Given the description of an element on the screen output the (x, y) to click on. 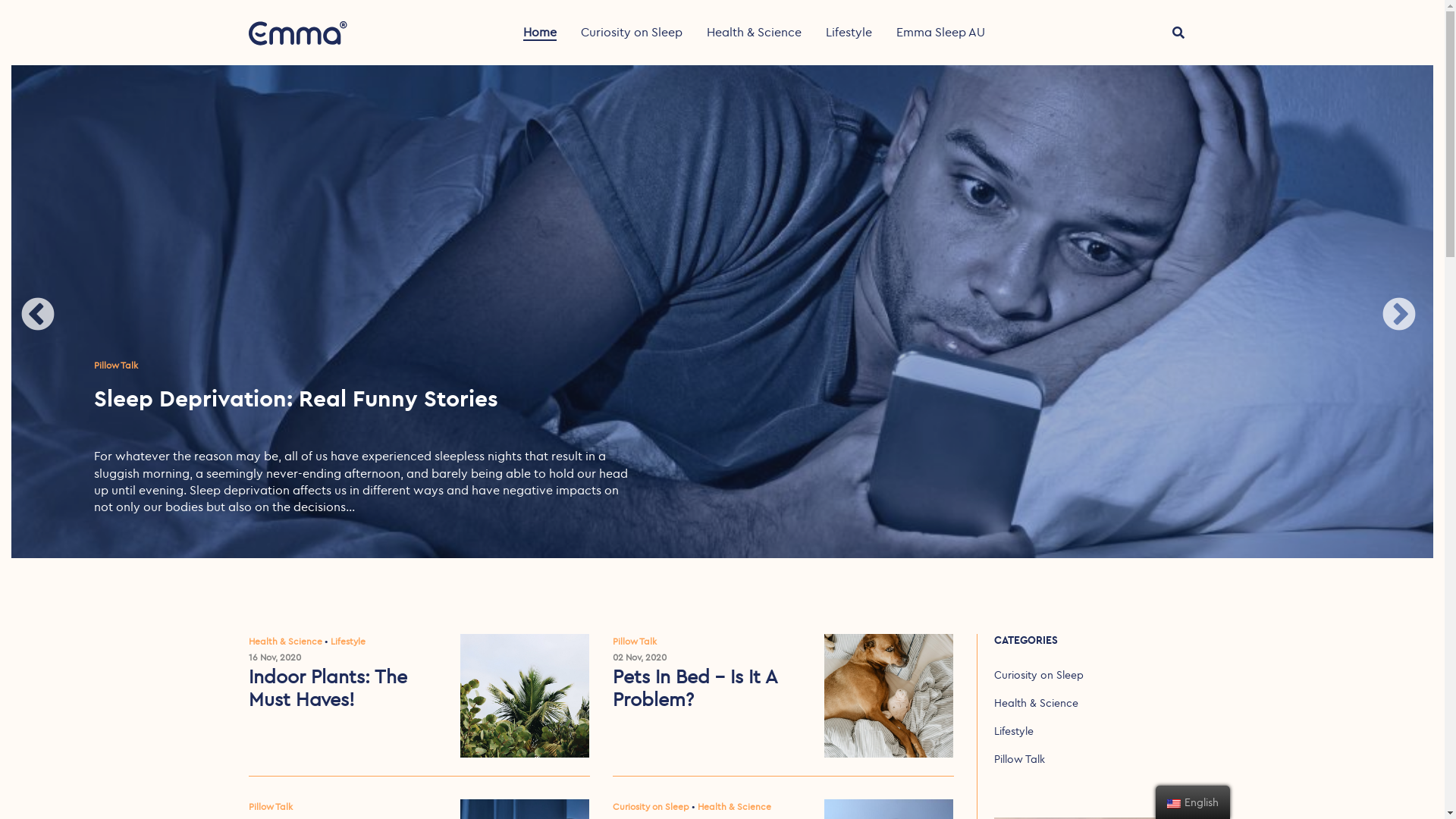
Health & Science Element type: text (1035, 702)
Health & Science Element type: text (285, 640)
Emma Sleep AU Element type: text (940, 31)
Curiosity on Sleep Element type: text (650, 806)
Pillow Talk Element type: text (1018, 758)
Lifestyle Element type: text (347, 640)
Pillow Talk Element type: text (270, 806)
NEXT Element type: text (1399, 315)
Lifestyle Element type: text (847, 31)
Health & Science Element type: text (734, 806)
Home Element type: text (539, 32)
Pillow Talk Element type: text (116, 364)
  Element type: text (524, 695)
Curiosity on Sleep Element type: text (1037, 674)
Health & Science Element type: text (753, 31)
Indoor Plants: The Must Haves! Element type: text (343, 687)
  Element type: text (888, 695)
PREVIOUS Element type: text (37, 315)
Curiosity on Sleep Element type: text (631, 31)
Lifestyle Element type: text (1012, 730)
Pillow Talk Element type: text (634, 640)
English Element type: hover (1173, 803)
